Given the description of an element on the screen output the (x, y) to click on. 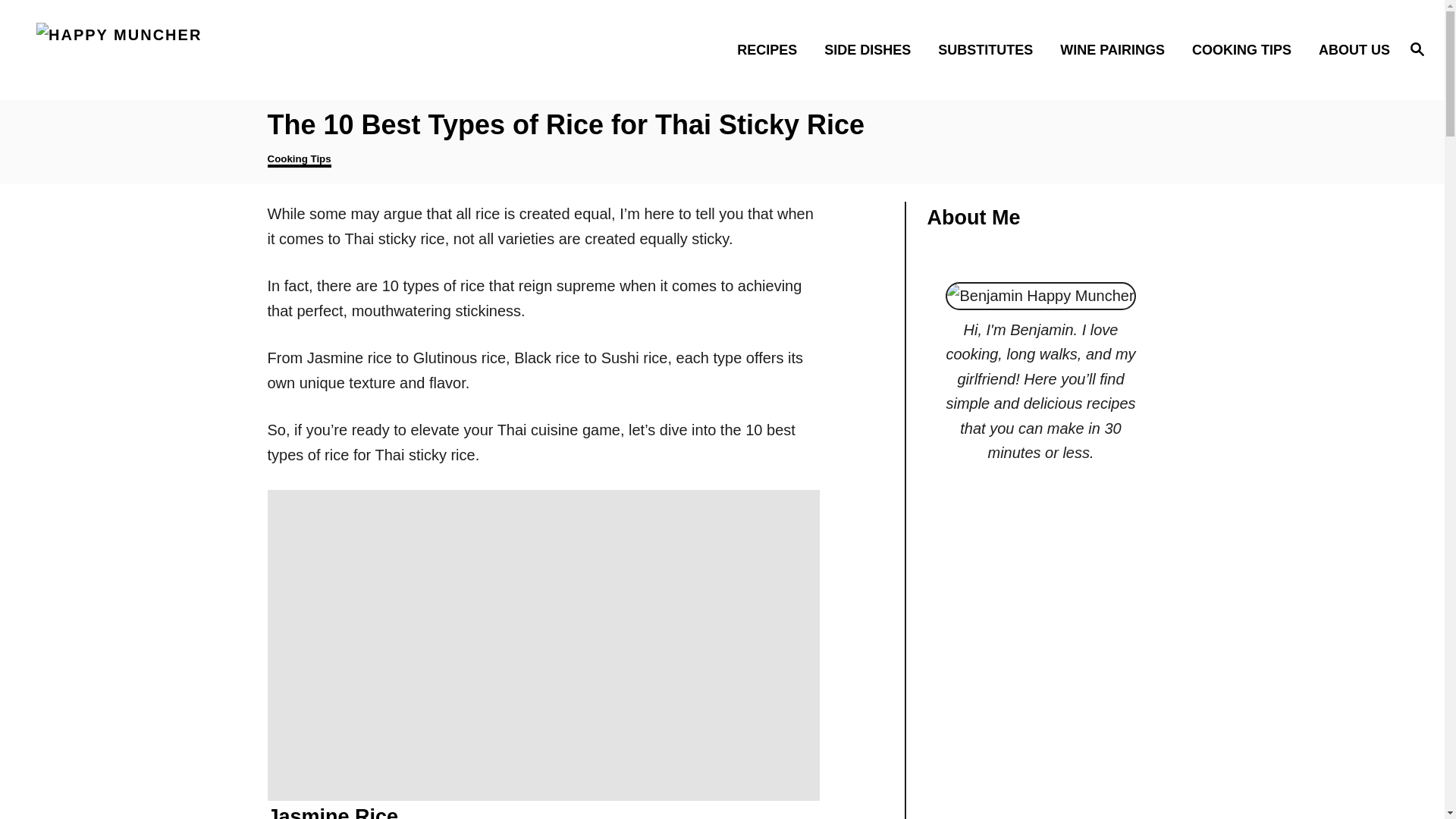
Magnifying Glass (1416, 48)
RECIPES (771, 49)
WINE PAIRINGS (1116, 49)
SIDE DISHES (871, 49)
SUBSTITUTES (989, 49)
ABOUT US (1349, 49)
Happy Muncher (204, 49)
COOKING TIPS (1245, 49)
Cooking Tips (298, 160)
